Given the description of an element on the screen output the (x, y) to click on. 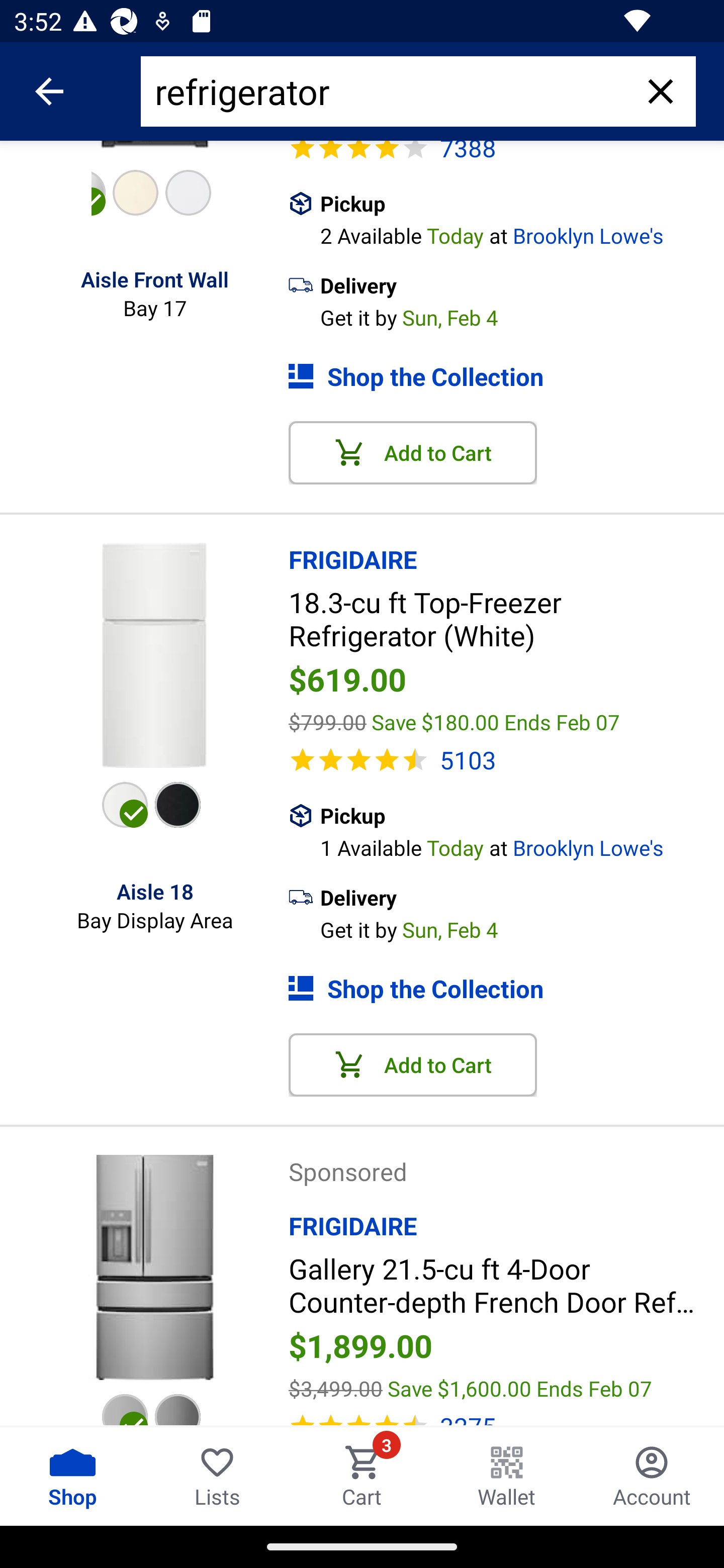
Navigate up (49, 91)
refrigerator (389, 91)
2 Available Today  at  Brooklyn Lowe's (522, 233)
Shop the Collection (506, 376)
Add to Cart (412, 452)
1 Available Today  at  Brooklyn Lowe's (522, 845)
Shop the Collection (506, 988)
Add to Cart (412, 1064)
Lists (216, 1475)
Cart Cart 3 (361, 1475)
Wallet (506, 1475)
Account (651, 1475)
